Given the description of an element on the screen output the (x, y) to click on. 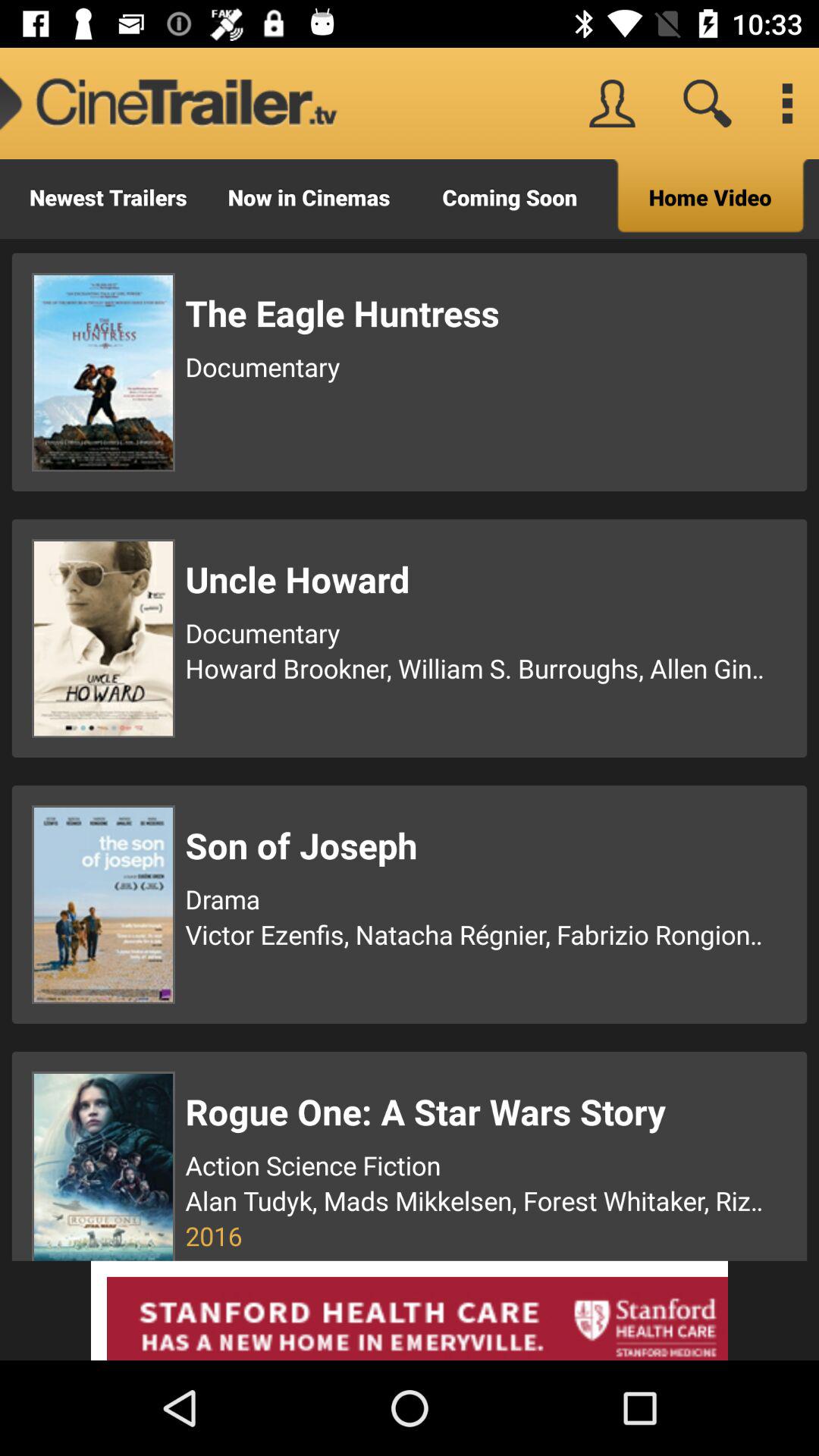
choose the item below the drama (476, 934)
